Given the description of an element on the screen output the (x, y) to click on. 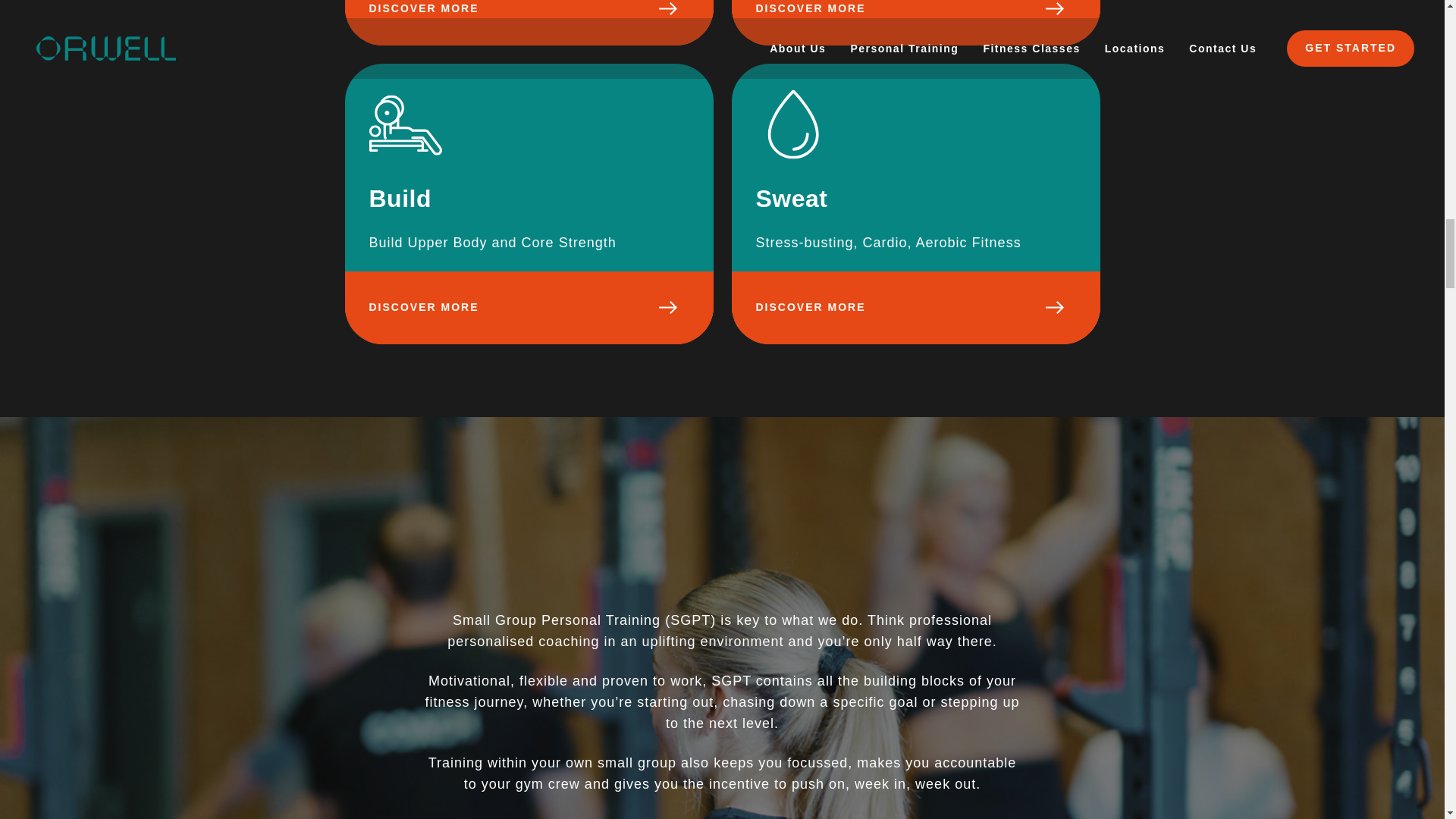
DISCOVER MORE (528, 307)
DISCOVER MORE (528, 22)
DISCOVER MORE (914, 22)
DISCOVER MORE (914, 307)
